Given the description of an element on the screen output the (x, y) to click on. 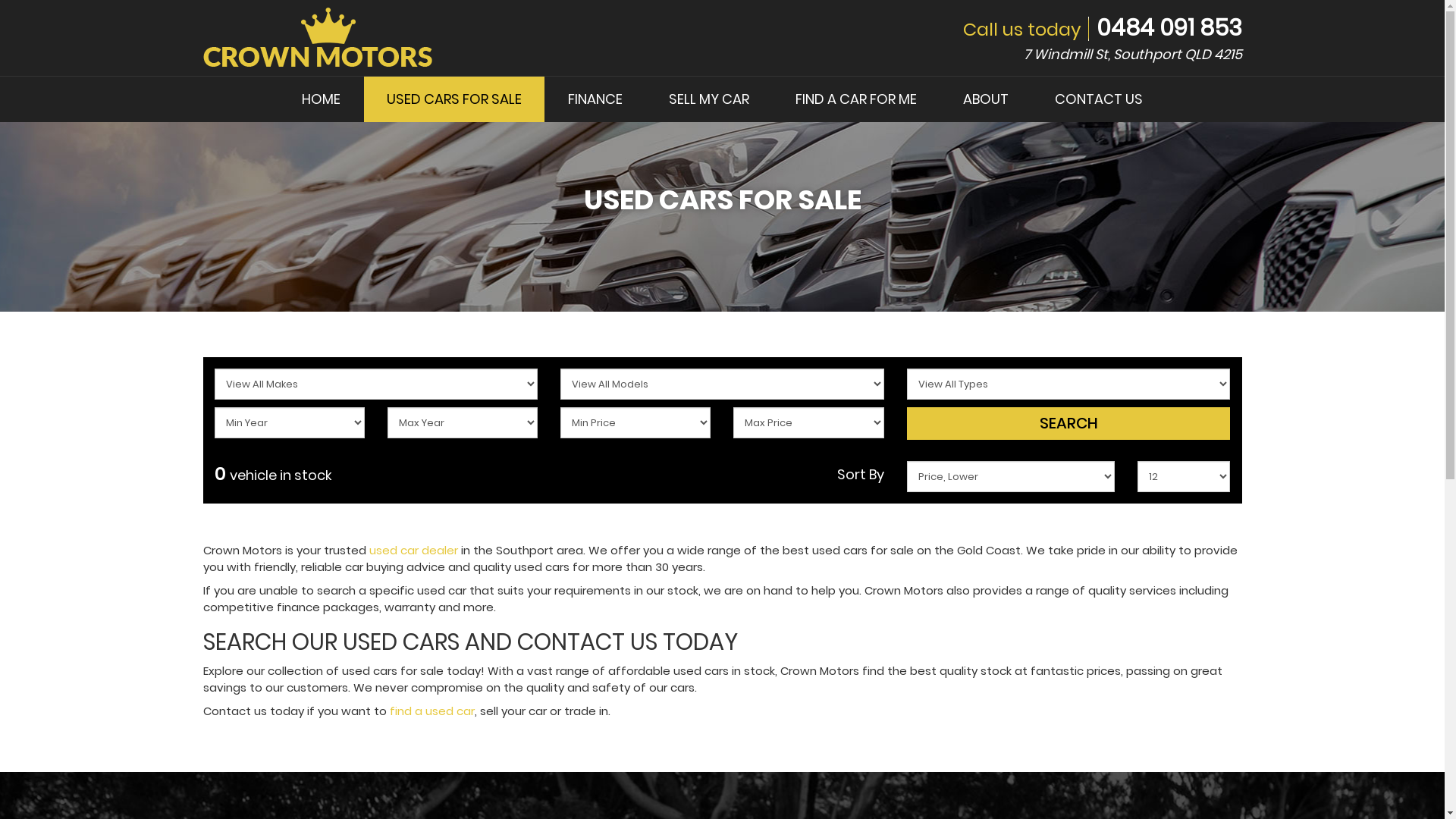
ABOUT Element type: text (985, 99)
USED CARS FOR SALE Element type: text (454, 99)
0484 091 853 Element type: text (1169, 27)
SELL MY CAR Element type: text (708, 99)
FINANCE Element type: text (594, 99)
CONTACT US Element type: text (1097, 99)
7 Windmill St, Southport QLD 4215 Element type: text (1132, 53)
HOME Element type: text (321, 99)
used car dealer Element type: text (412, 550)
FIND A CAR FOR ME Element type: text (854, 99)
find a used car Element type: text (431, 710)
